Given the description of an element on the screen output the (x, y) to click on. 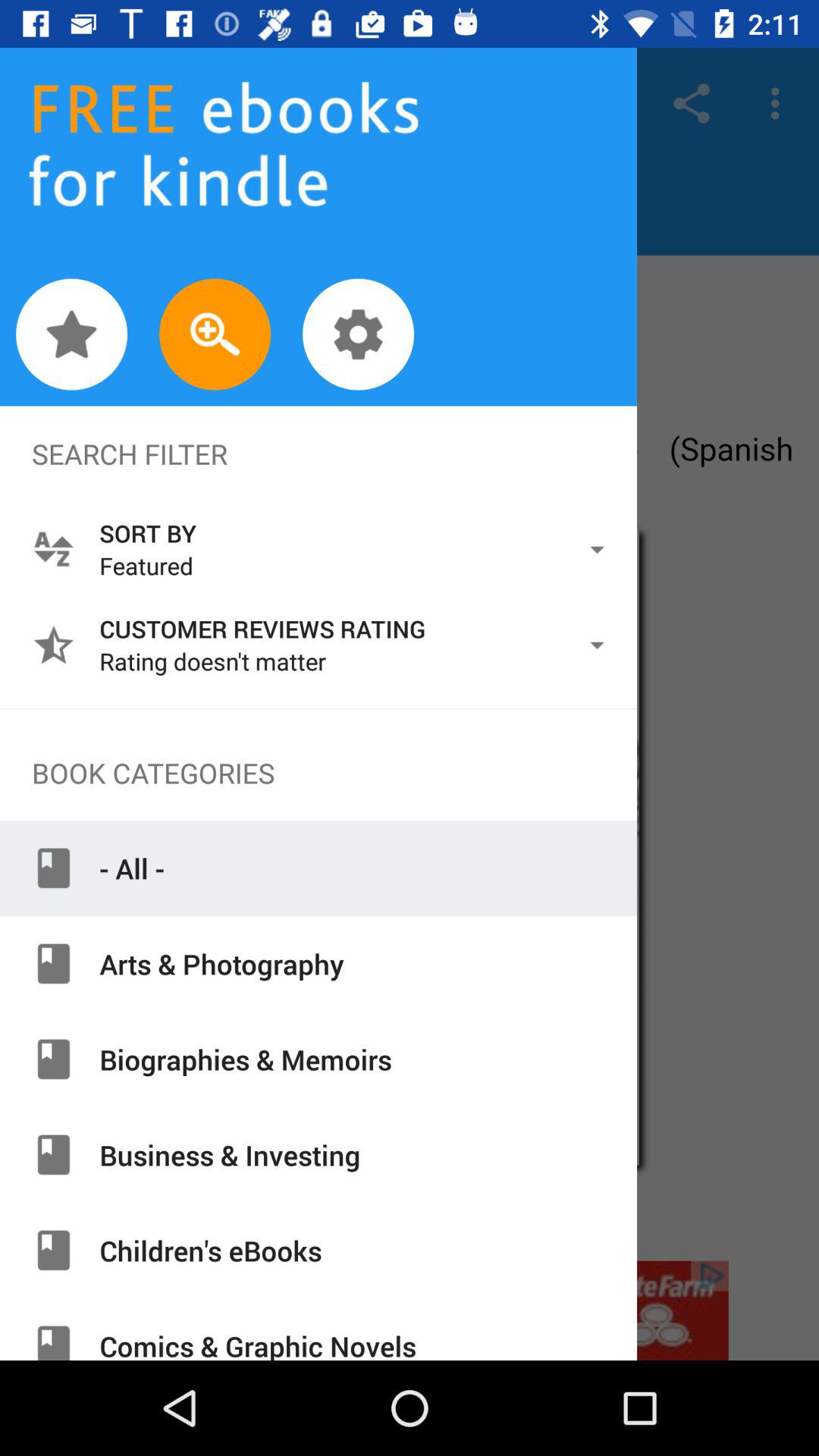
favourites (71, 334)
